Given the description of an element on the screen output the (x, y) to click on. 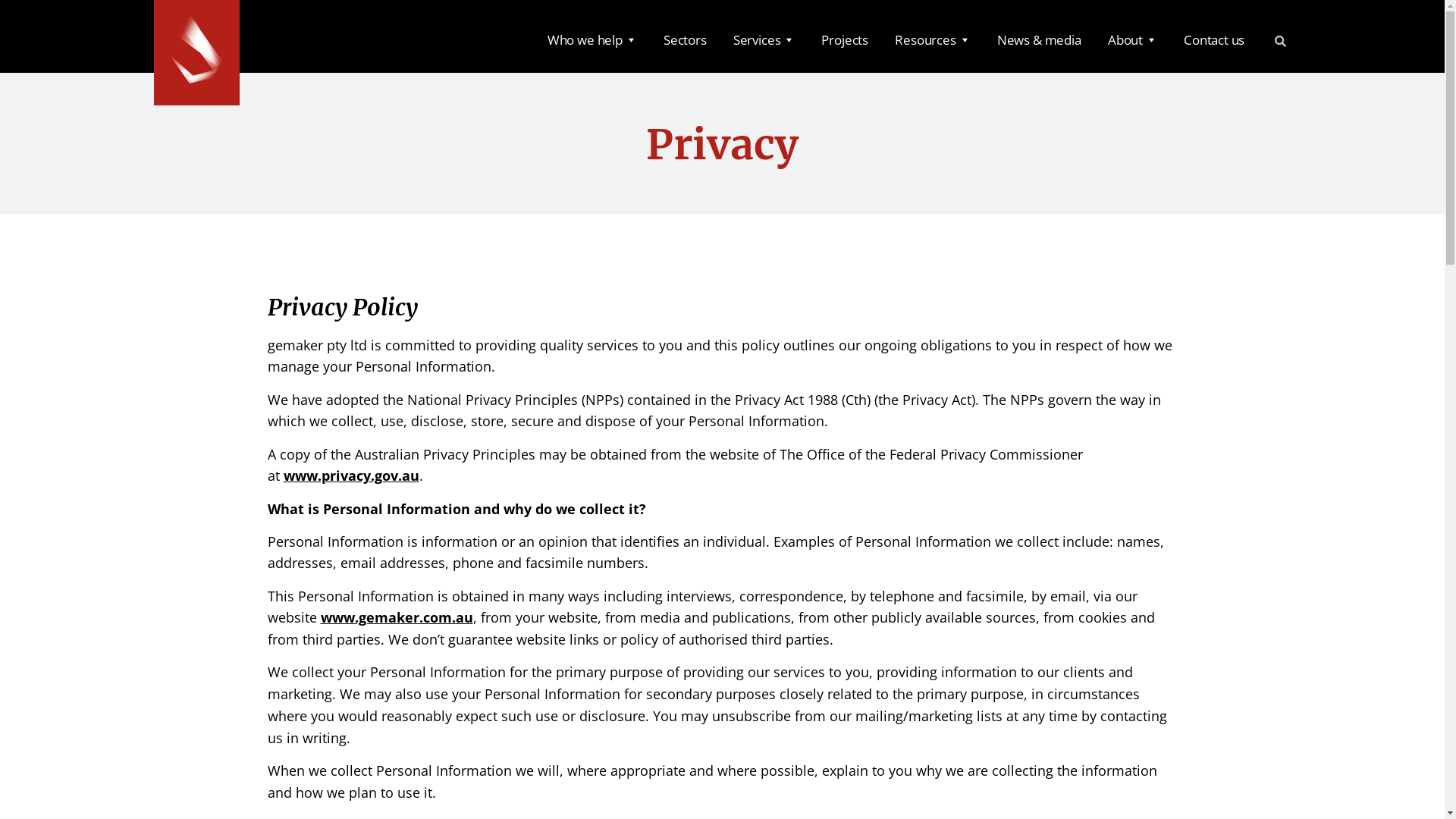
Projects Element type: text (844, 36)
Services Element type: text (763, 36)
www.privacy.gov.au Element type: text (351, 475)
www.gemaker.com.au Element type: text (396, 617)
Sectors Element type: text (684, 36)
Who we help Element type: text (591, 36)
Resources Element type: text (932, 36)
Contact us Element type: text (1213, 36)
About Element type: text (1132, 36)
News & media Element type: text (1038, 36)
